Given the description of an element on the screen output the (x, y) to click on. 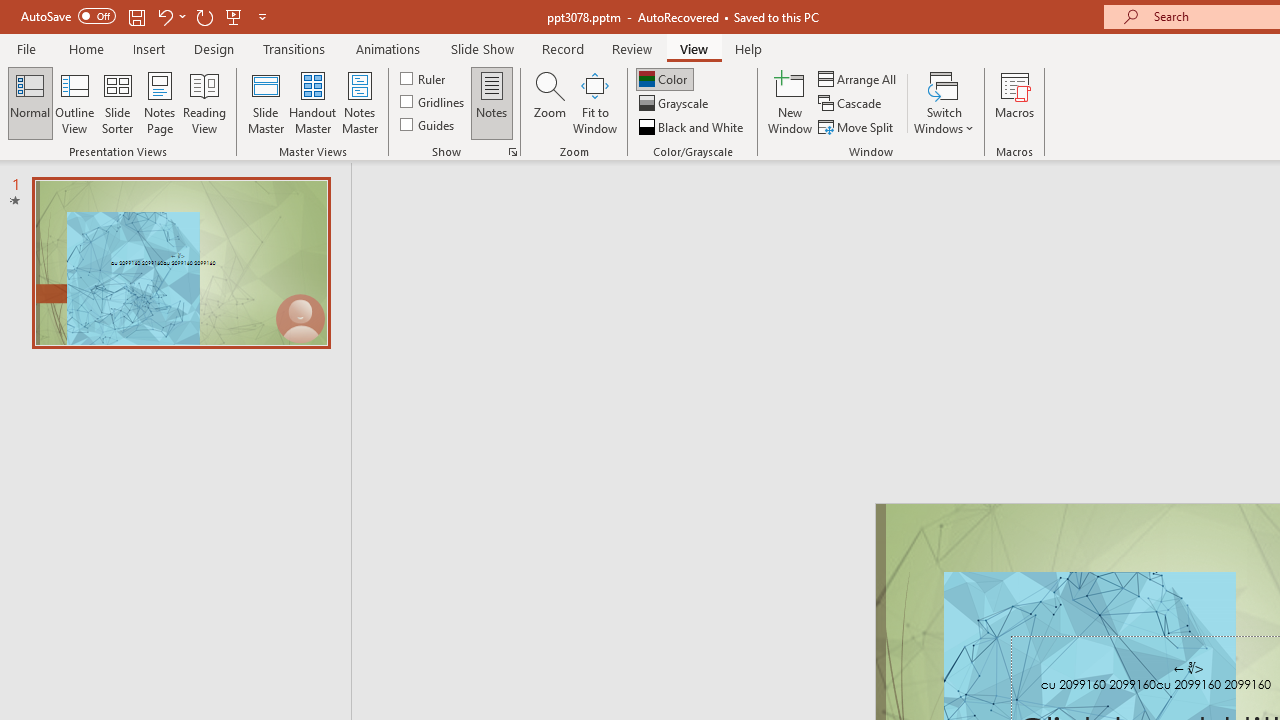
Black and White (693, 126)
Handout Master (312, 102)
Outline View (74, 102)
TextBox 7 (1188, 668)
Color (664, 78)
Arrange All (858, 78)
Ruler (423, 78)
